Given the description of an element on the screen output the (x, y) to click on. 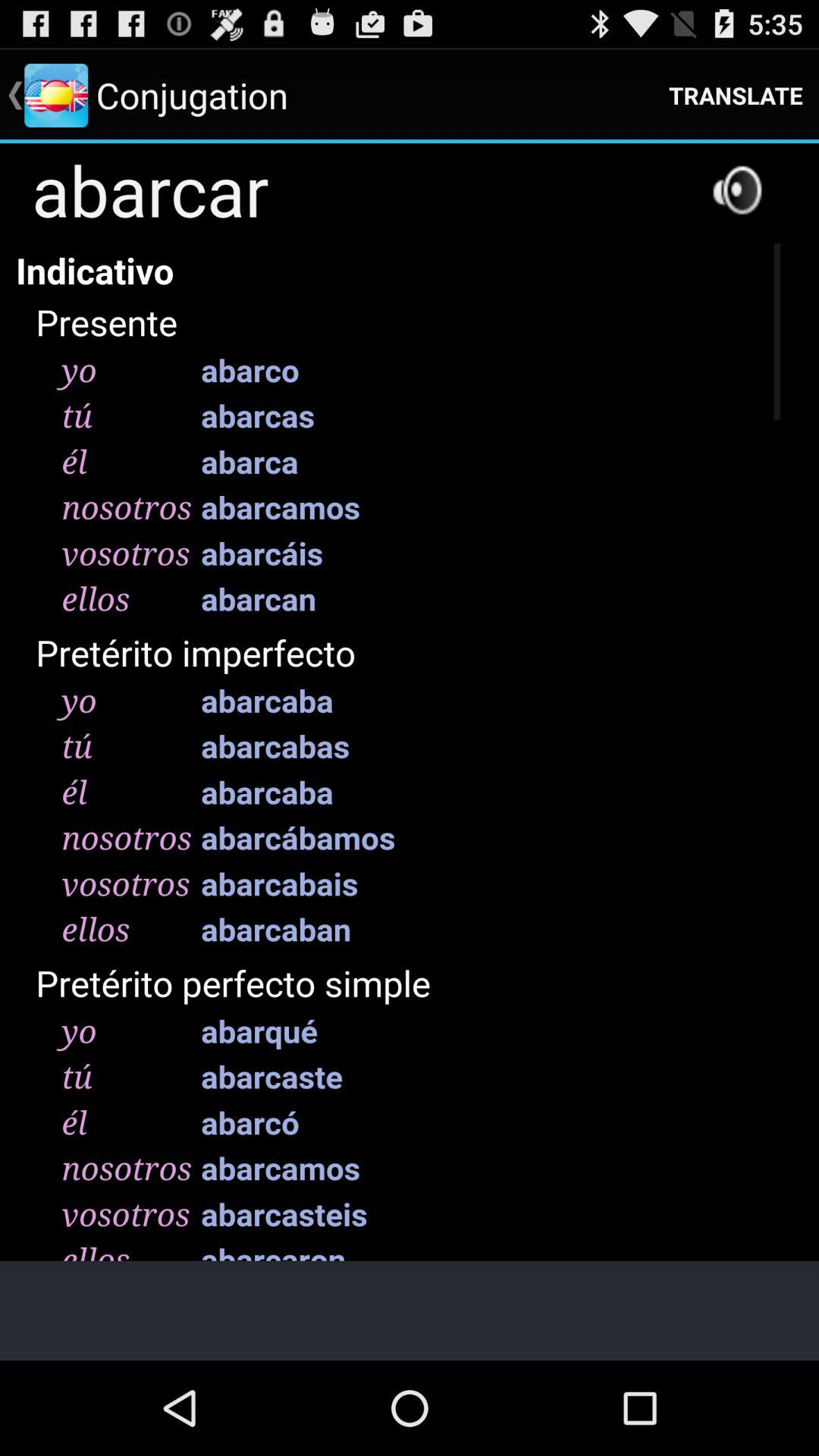
sound button (737, 189)
